Given the description of an element on the screen output the (x, y) to click on. 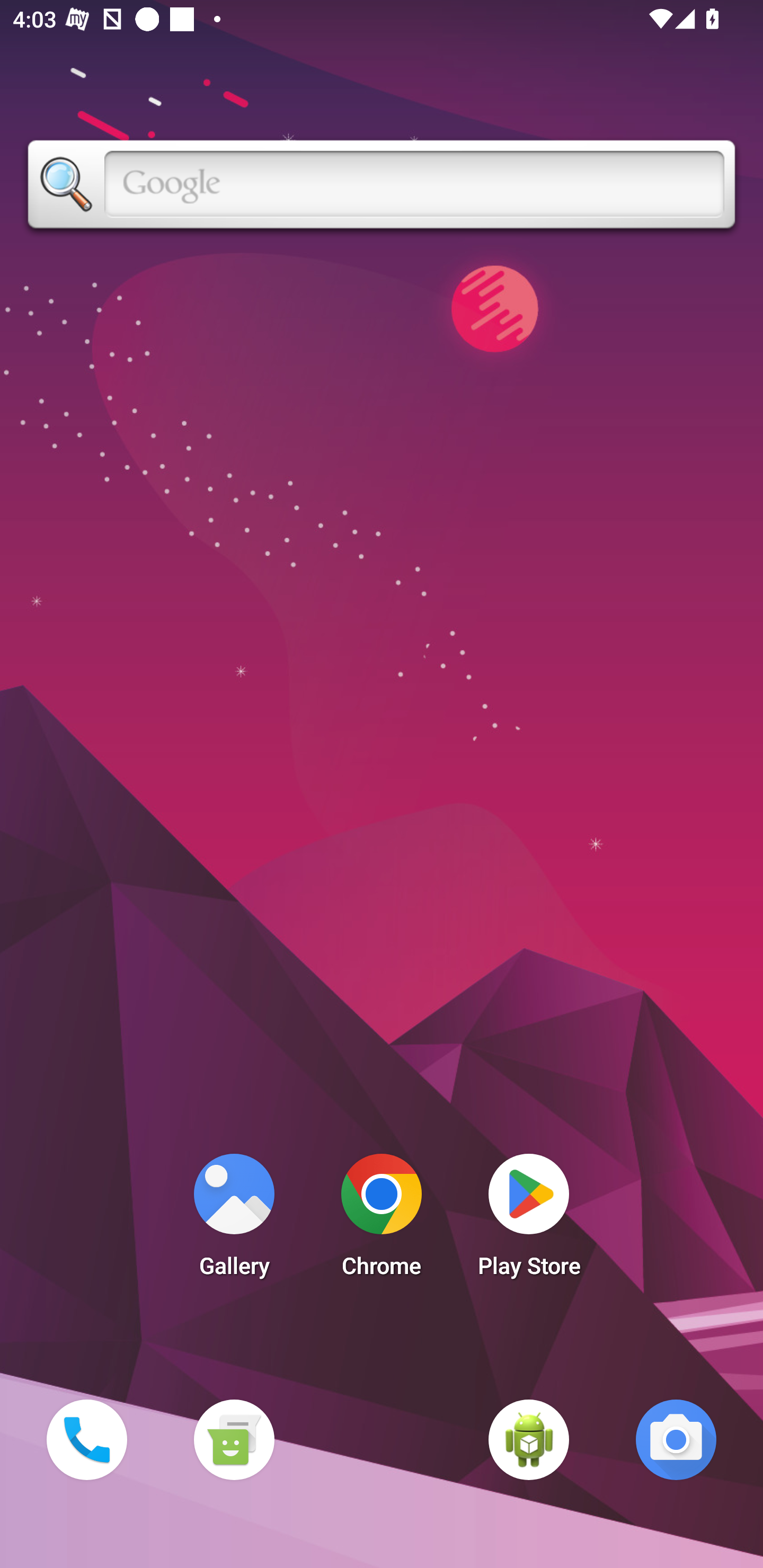
Gallery (233, 1220)
Chrome (381, 1220)
Play Store (528, 1220)
Phone (86, 1439)
Messaging (233, 1439)
WebView Browser Tester (528, 1439)
Camera (676, 1439)
